Given the description of an element on the screen output the (x, y) to click on. 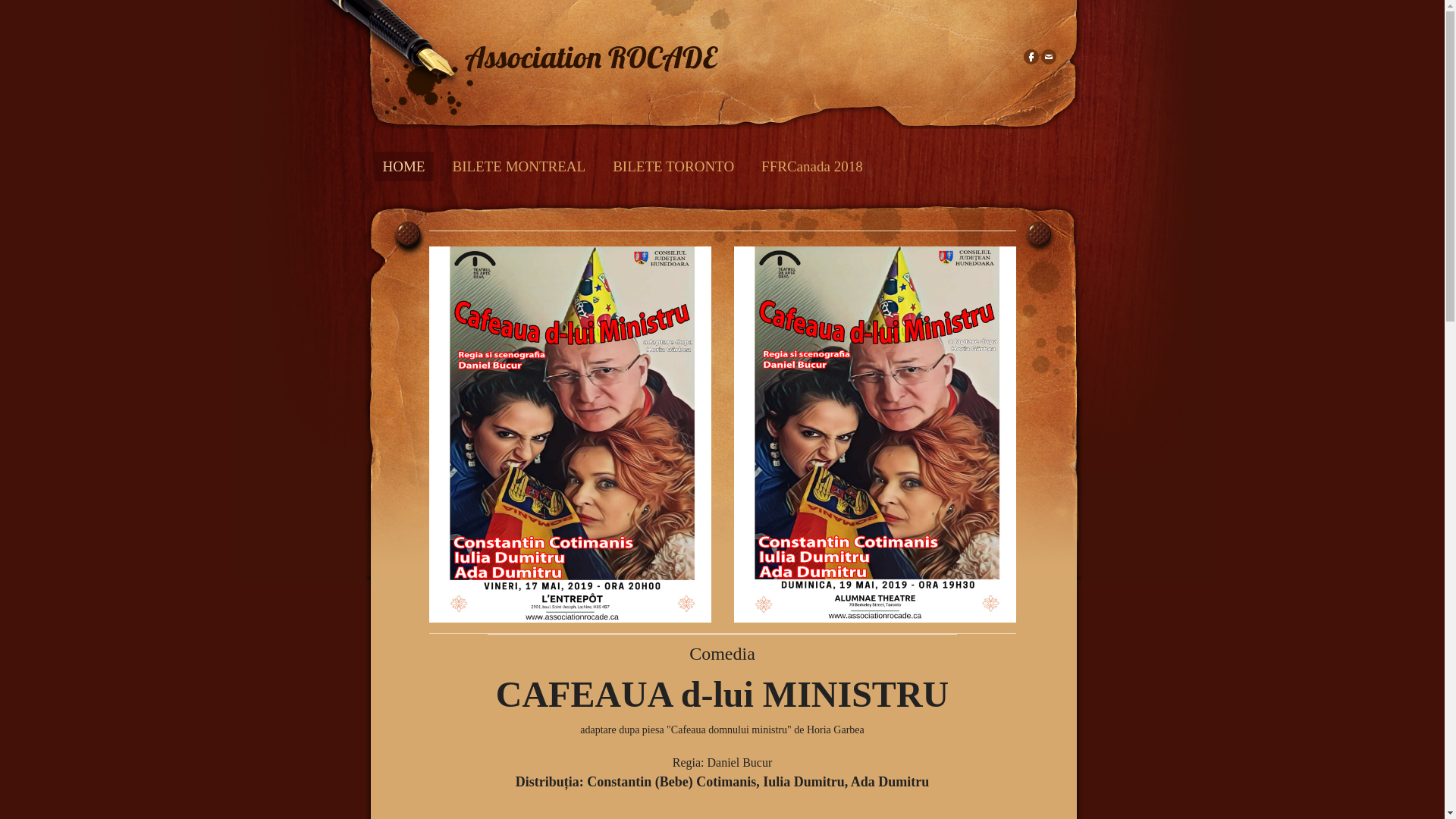
BILETE TORONTO Element type: text (673, 166)
Association ROCADE Element type: text (589, 55)
HOME Element type: text (403, 166)
BILETE MONTREAL Element type: text (518, 166)
FFRCanada 2018 Element type: text (812, 166)
